Given the description of an element on the screen output the (x, y) to click on. 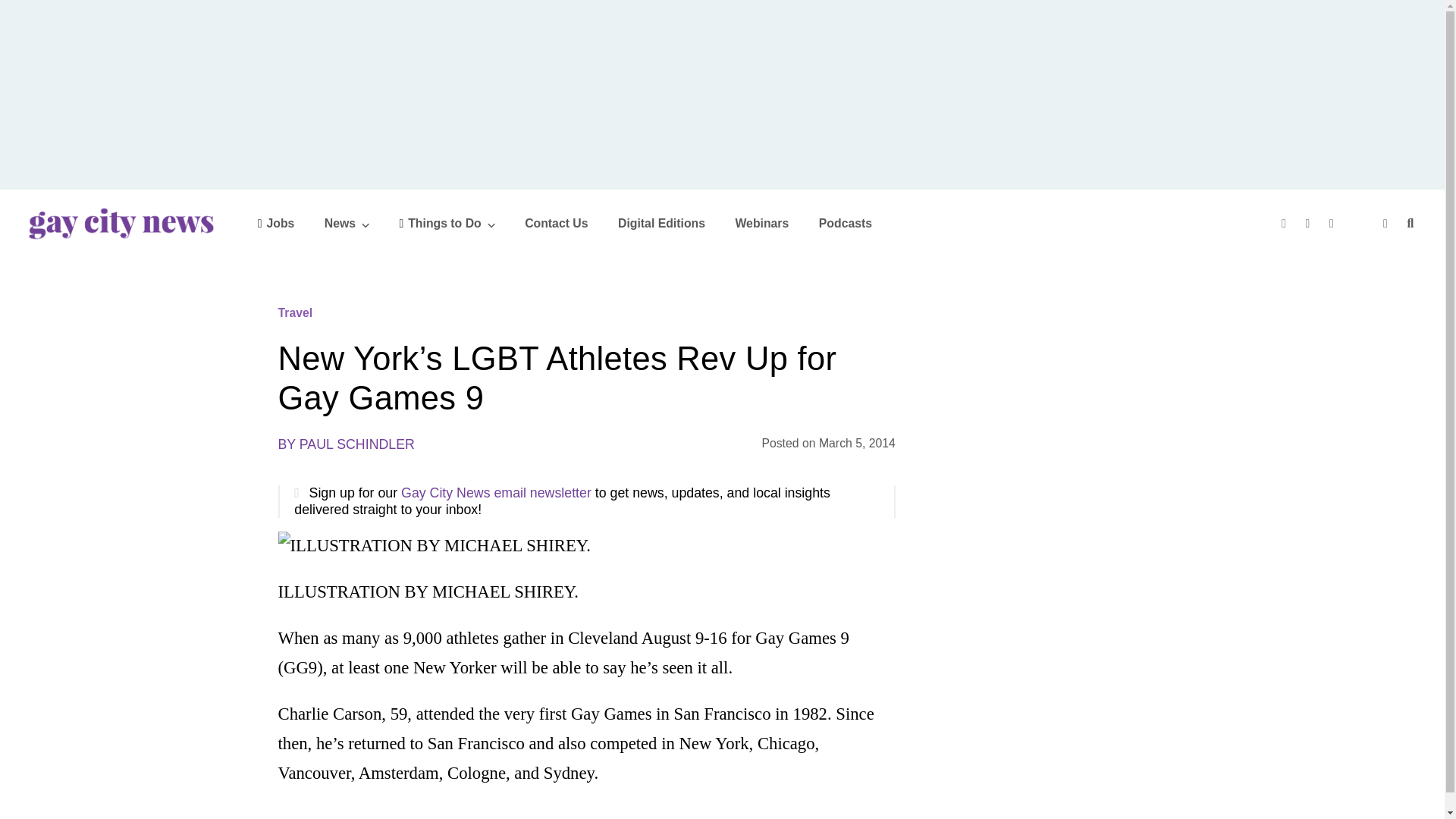
Webinars (762, 223)
Jobs (276, 223)
Digital Editions (660, 223)
News (346, 223)
Podcasts (845, 223)
Contact Us (556, 223)
Things to Do (446, 223)
